Given the description of an element on the screen output the (x, y) to click on. 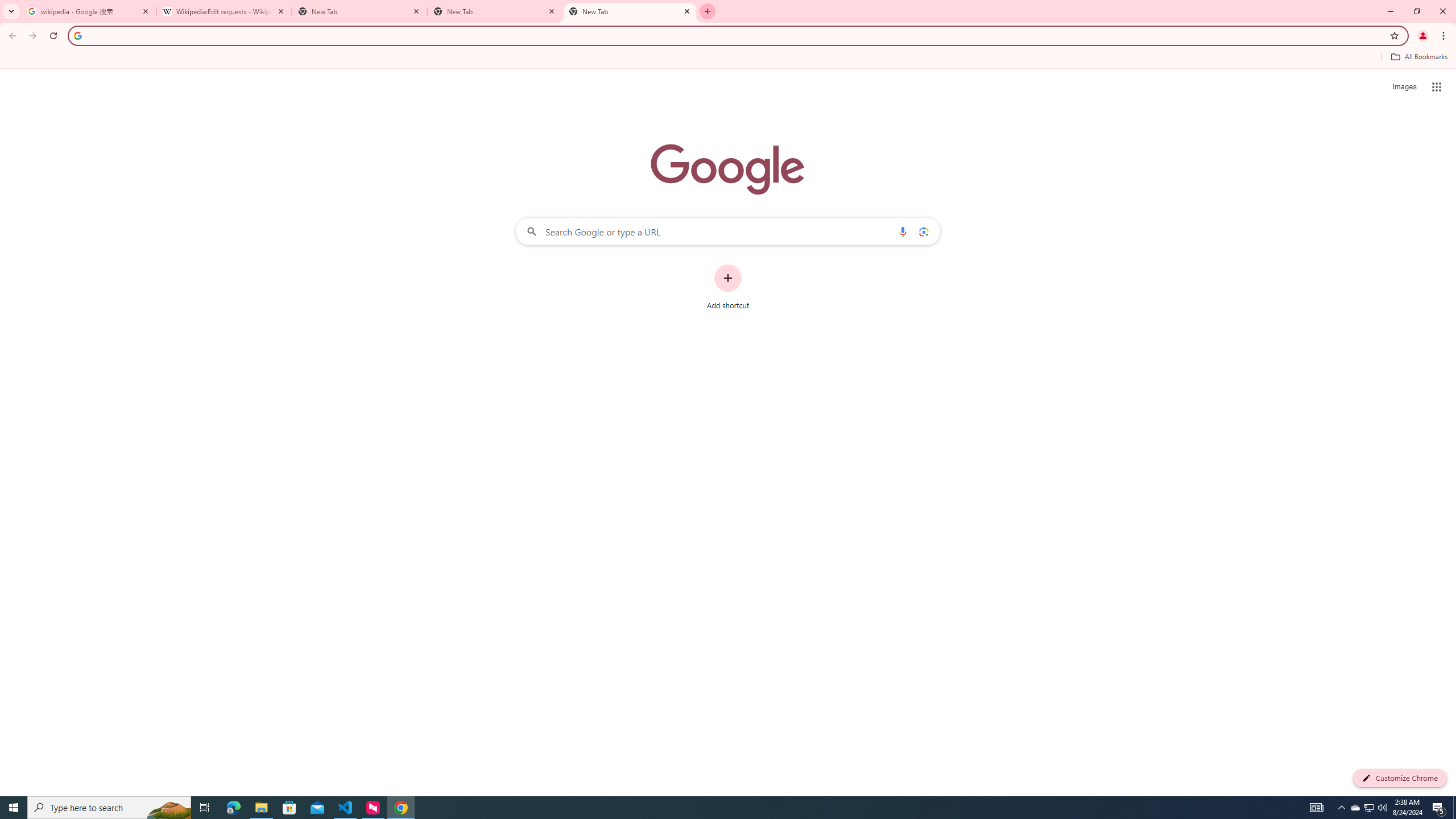
New Tab (630, 11)
New Tab (494, 11)
Wikipedia:Edit requests - Wikipedia (224, 11)
